Given the description of an element on the screen output the (x, y) to click on. 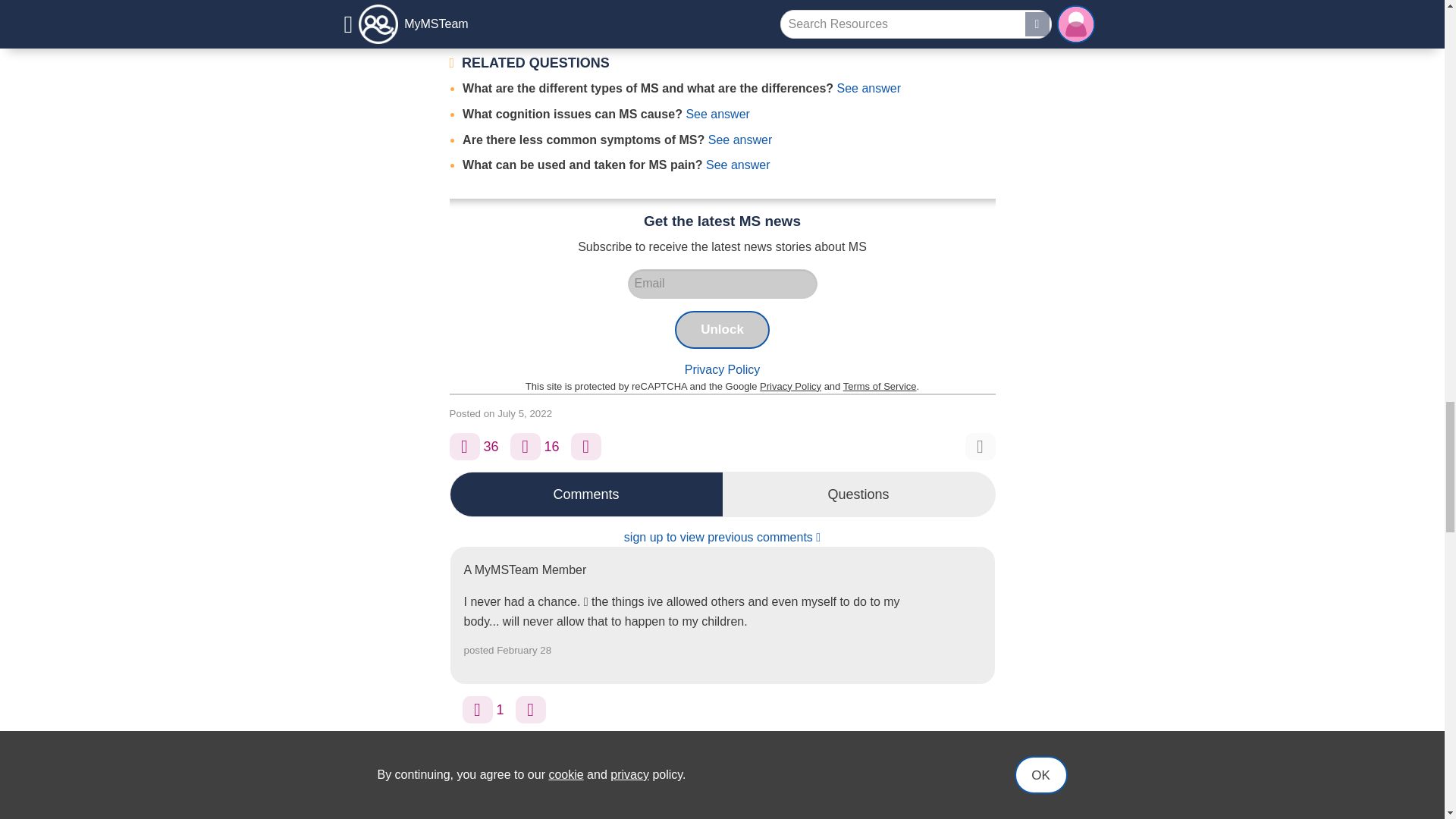
submit (954, 812)
I like this (463, 446)
Unlock (722, 329)
I like this (530, 709)
Ask a question (585, 446)
Send a hug (478, 709)
Add a comment (525, 446)
